Given the description of an element on the screen output the (x, y) to click on. 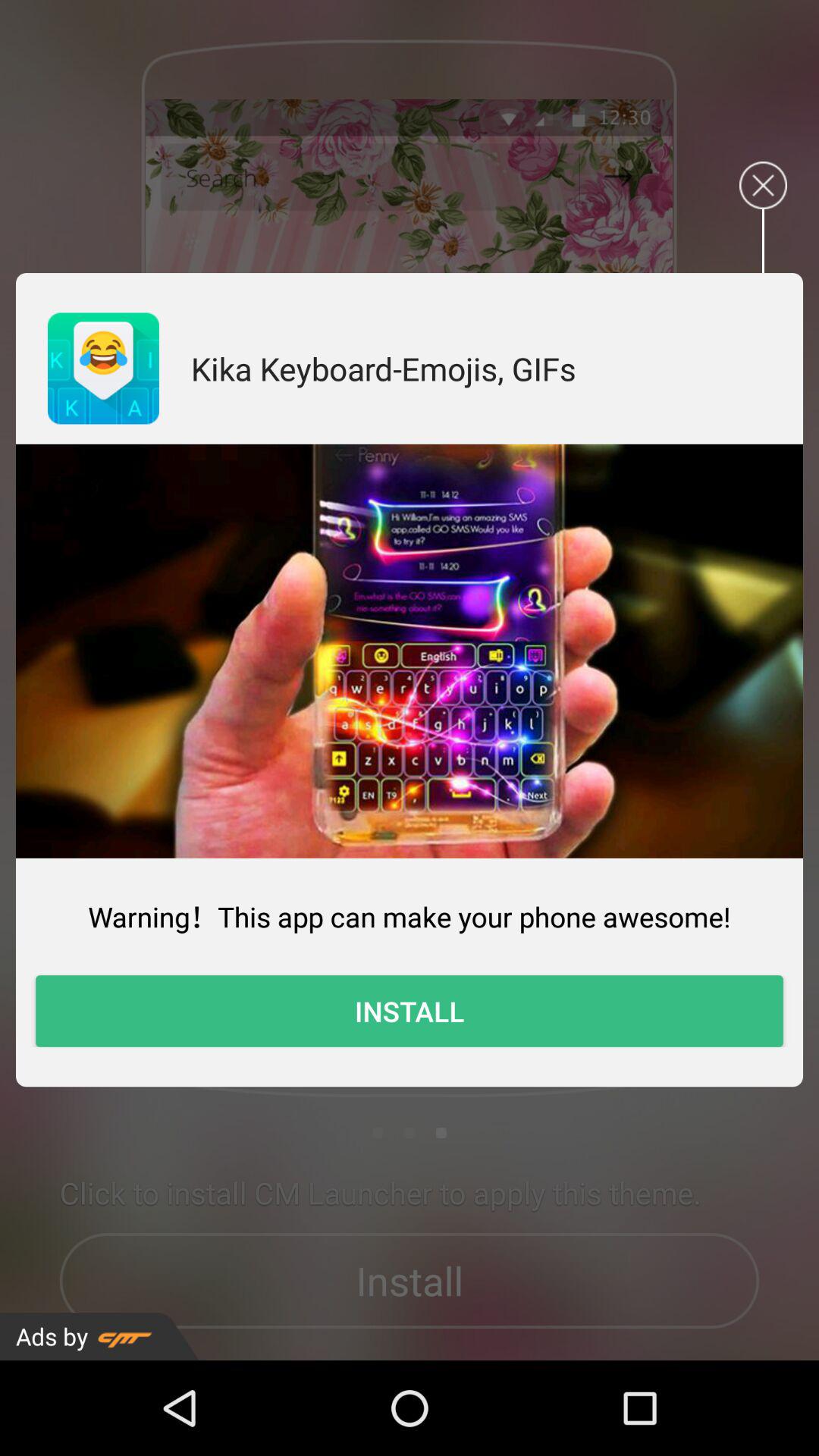
scan (409, 651)
